Given the description of an element on the screen output the (x, y) to click on. 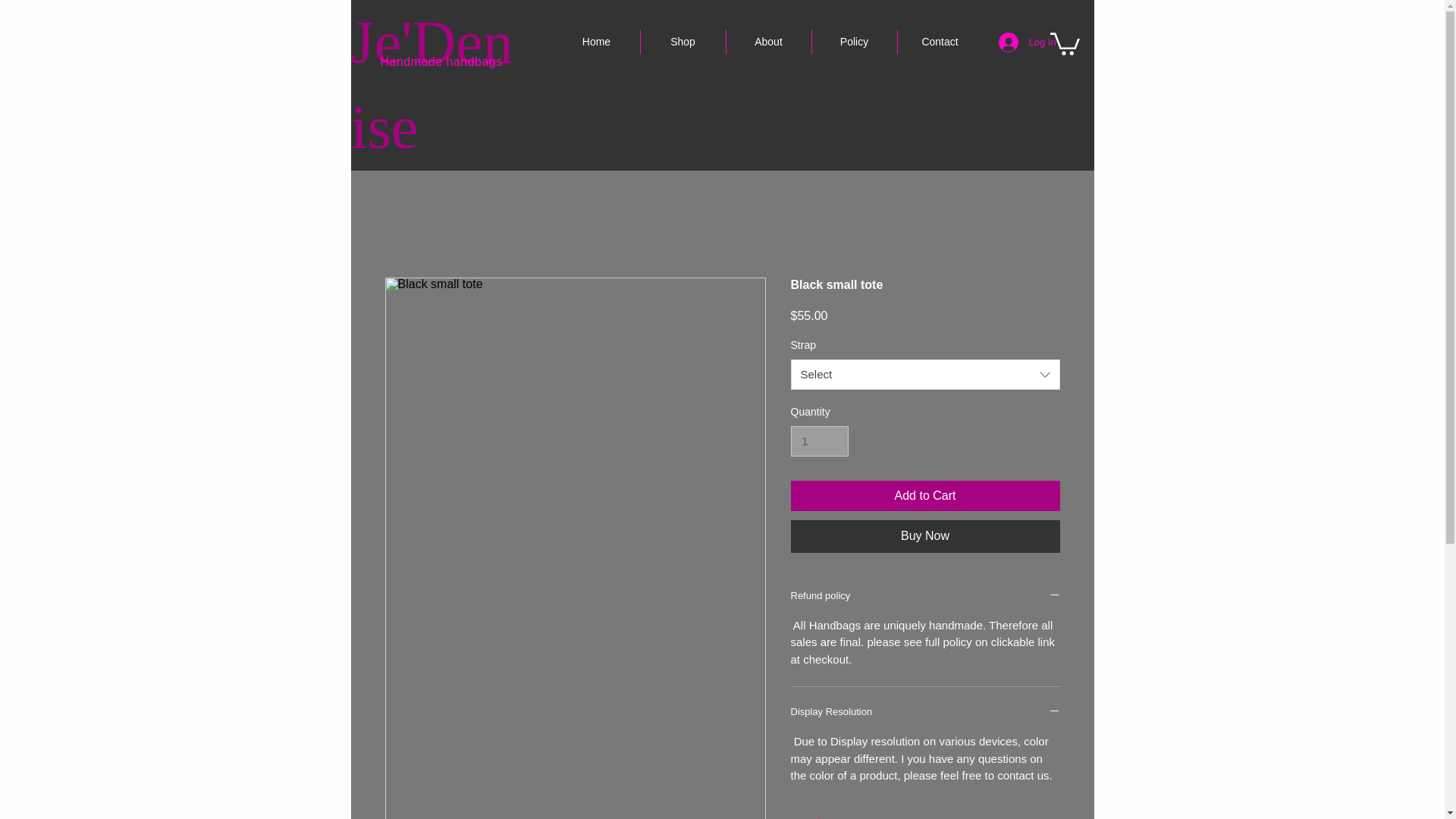
Buy Now (924, 536)
Shop (682, 41)
Refund policy (924, 596)
Display Resolution (924, 712)
About (767, 41)
Log In (1017, 41)
Policy (853, 41)
Select (924, 374)
Home (596, 41)
Add to Cart (924, 495)
1 (818, 441)
Contact (938, 41)
